Given the description of an element on the screen output the (x, y) to click on. 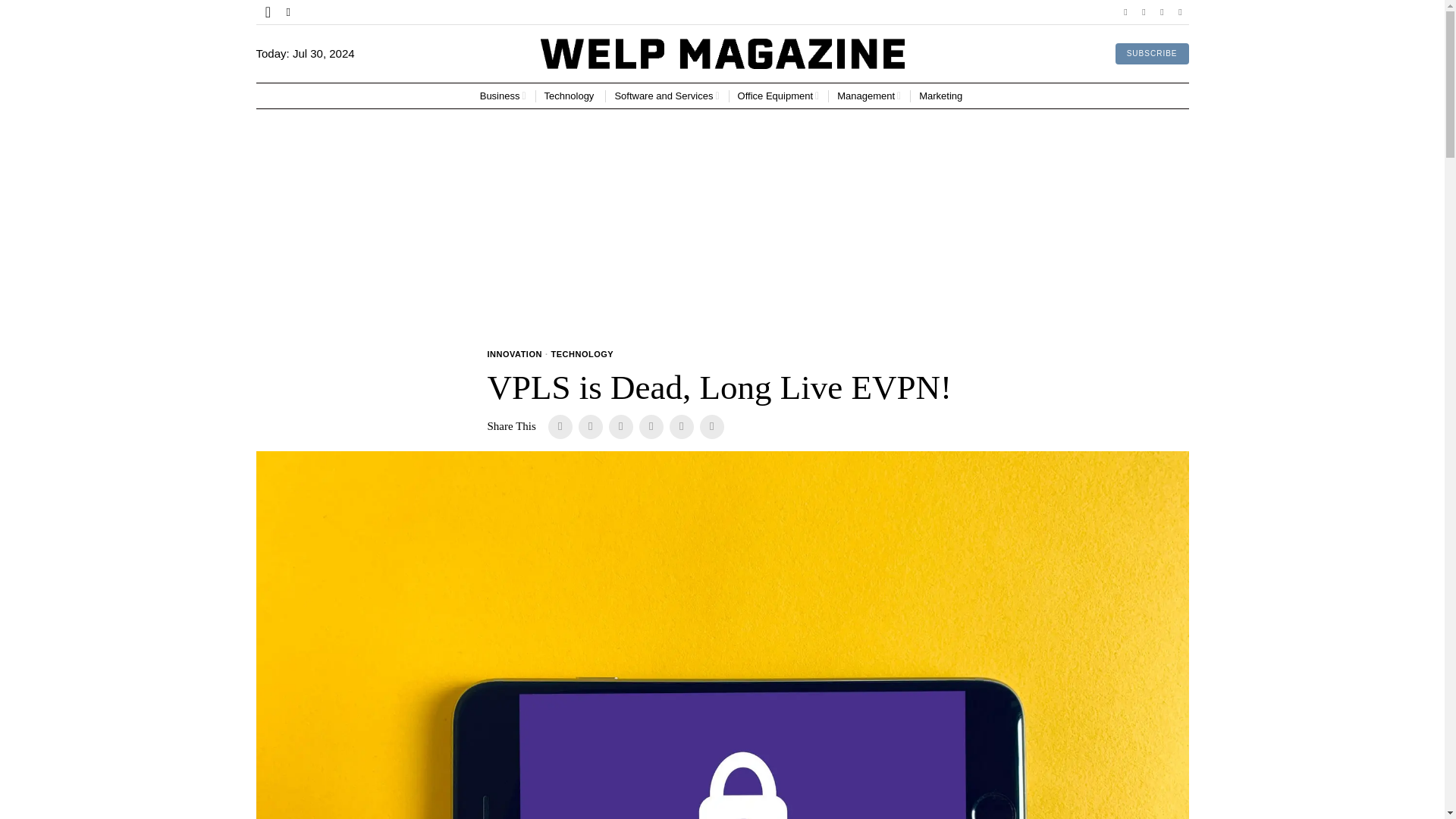
TECHNOLOGY (581, 354)
Technology (570, 95)
INNOVATION (513, 354)
Management (869, 95)
Marketing (942, 95)
Software and Services (666, 95)
Business (502, 95)
SUBSCRIBE (1152, 53)
Office Equipment (778, 95)
